Given the description of an element on the screen output the (x, y) to click on. 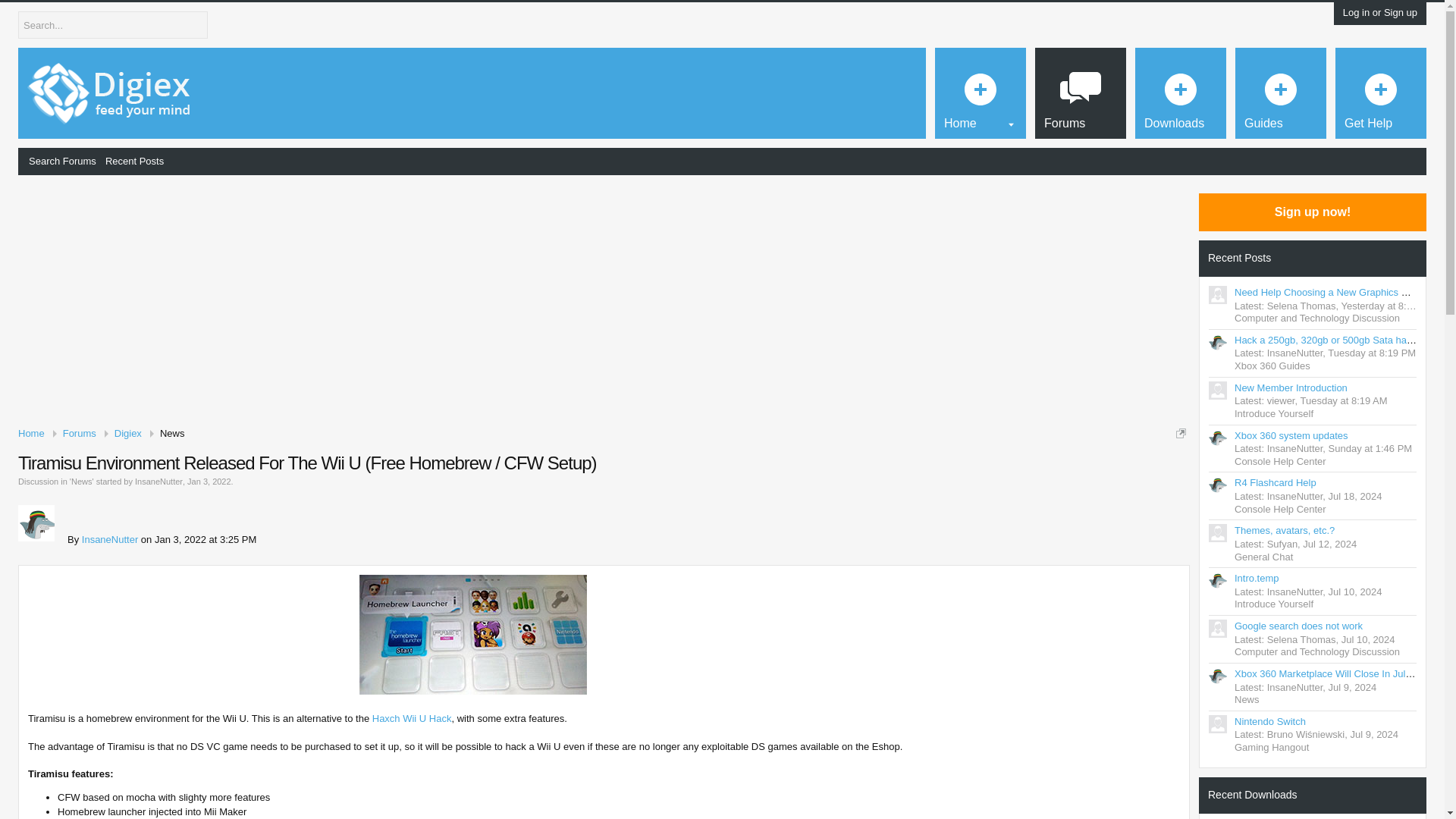
News (167, 434)
Jul 18, 2024 at 8:14 PM (1354, 496)
News (82, 481)
Jan 3, 2022 at 3:25 PM (209, 481)
InsaneNutter (109, 539)
Jul 23, 2024 at 8:19 PM (1371, 352)
Jul 10, 2024 at 11:46 AM (1354, 591)
Digiex (127, 434)
Jul 9, 2024 at 8:04 AM (1373, 734)
Haxch Wii U Hack (411, 717)
Jul 10, 2024 at 8:51 AM (1367, 639)
Jan 3, 2022 (209, 481)
Jul 21, 2024 at 1:46 PM (1369, 448)
Jul 23, 2024 at 8:19 AM (1343, 400)
Forums (78, 434)
